Given the description of an element on the screen output the (x, y) to click on. 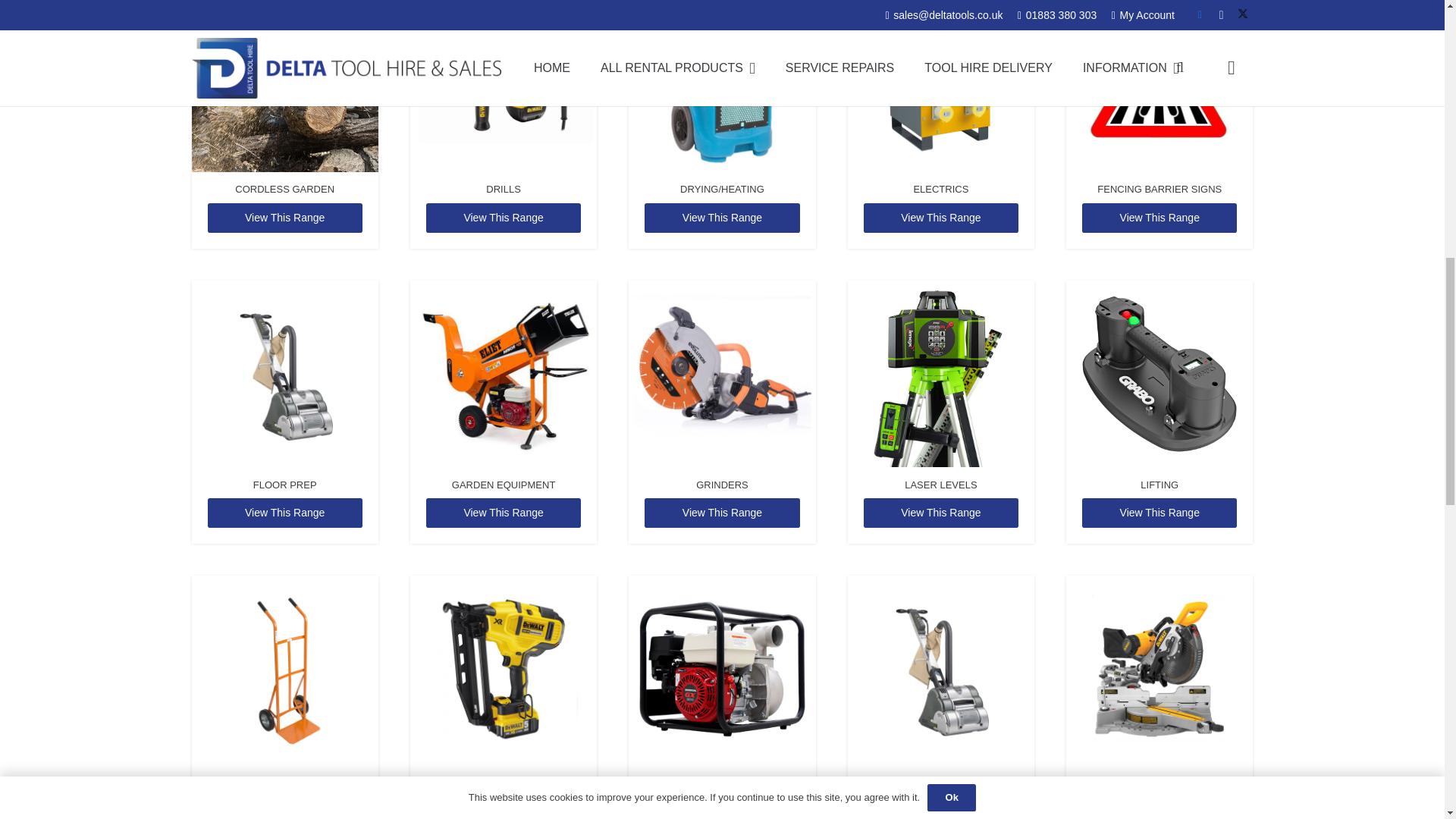
Back to top (1413, 26)
